Given the description of an element on the screen output the (x, y) to click on. 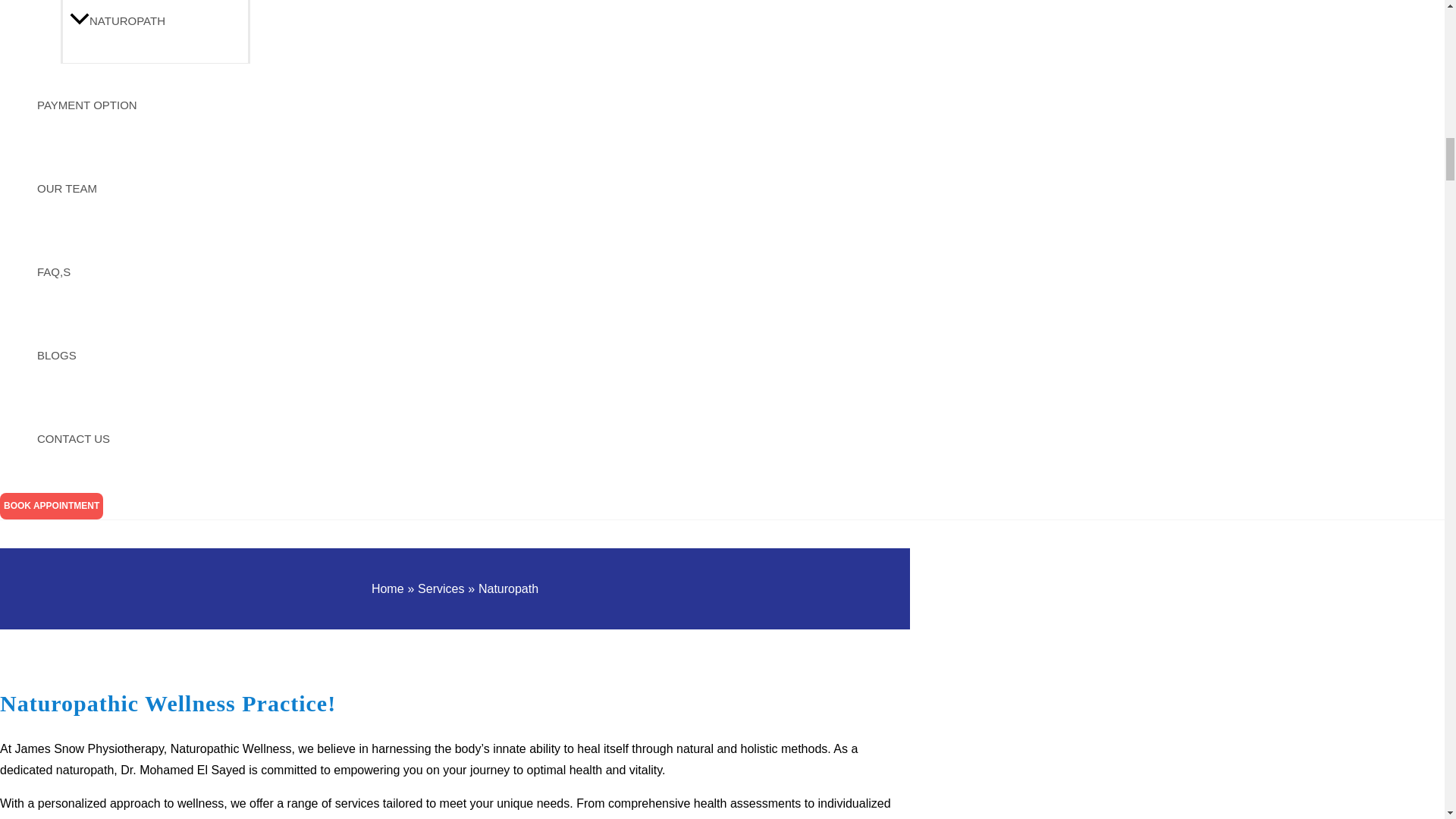
OUR TEAM (140, 188)
FAQ,S (140, 271)
CONTACT US (140, 438)
BLOGS (140, 355)
BOOK APPOINTMENT (51, 506)
PAYMENT OPTION (140, 105)
NATUROPATH (155, 31)
